Given the description of an element on the screen output the (x, y) to click on. 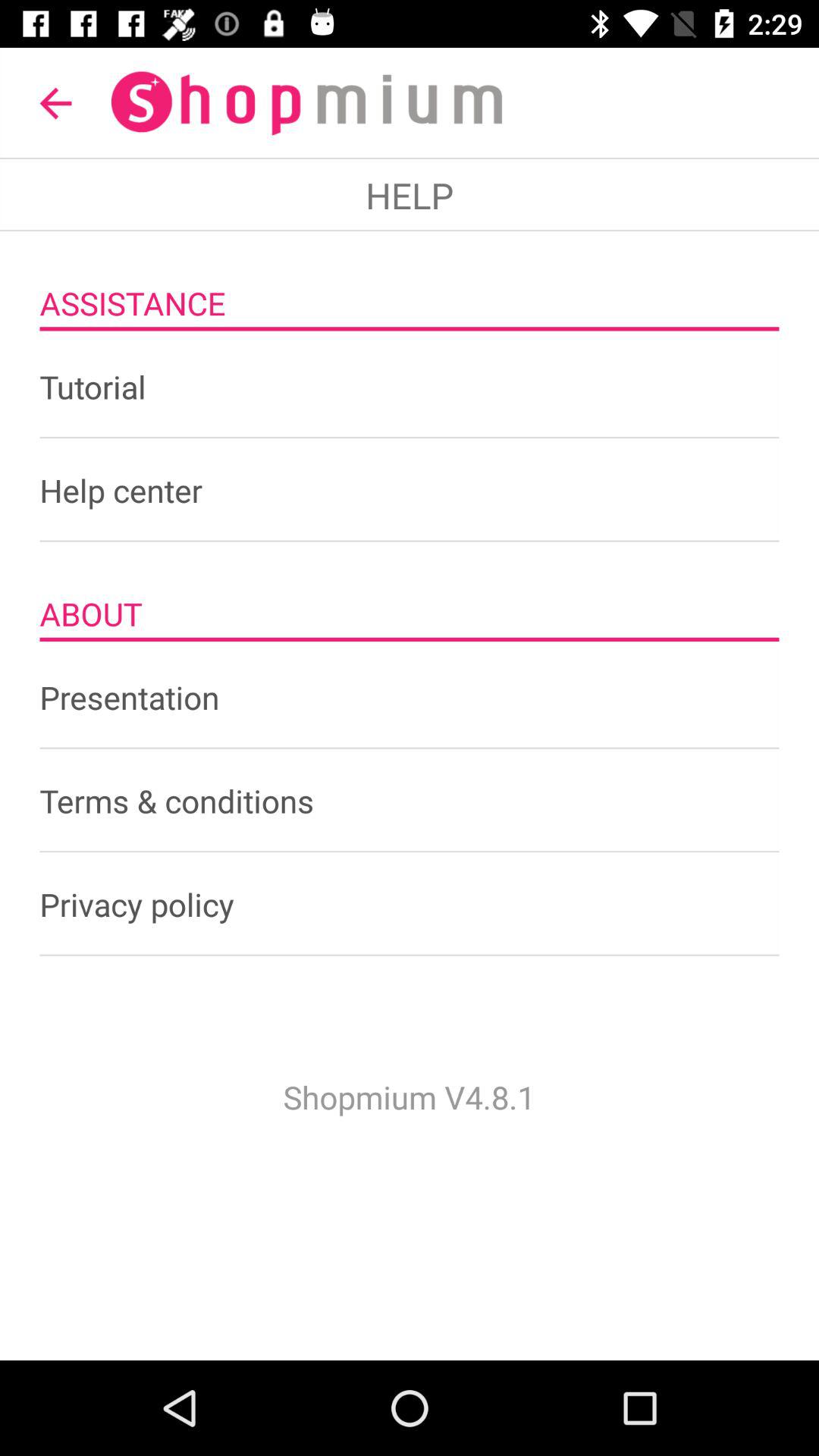
scroll until help center (409, 490)
